Given the description of an element on the screen output the (x, y) to click on. 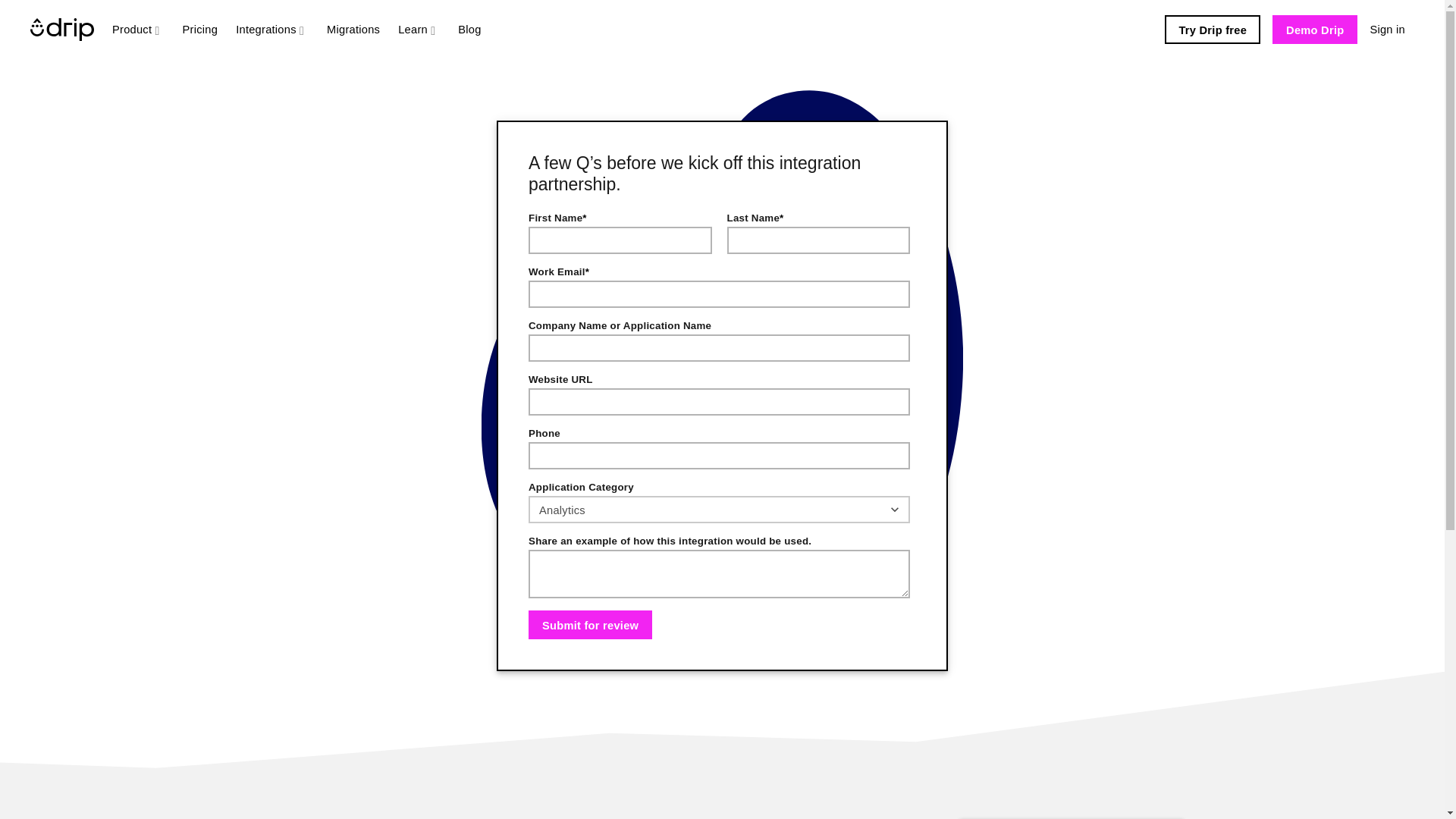
Demo Drip (1314, 29)
Pricing (200, 29)
Submit for review (590, 624)
Migrations (352, 29)
Submit for review (590, 624)
Try Drip free (1212, 29)
Integrations (272, 29)
Sign in (1386, 29)
Blog (468, 29)
